Given the description of an element on the screen output the (x, y) to click on. 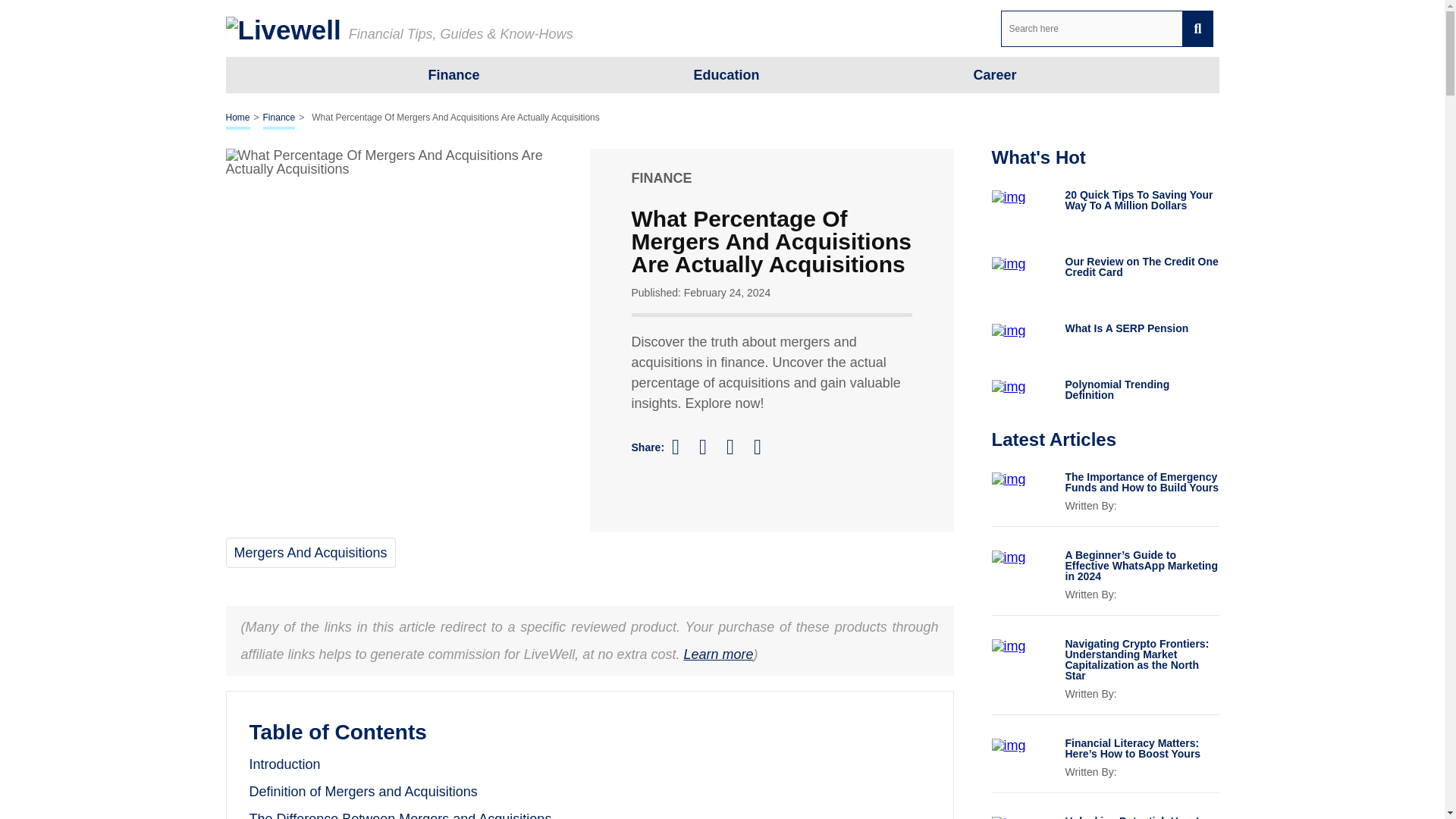
Share on Facebook (682, 446)
Finance (279, 118)
Learn more (717, 654)
Education (725, 74)
20 Quick Tips To Saving Your Way To A Million Dollars (1141, 199)
Home (237, 118)
Share on Twitter (709, 446)
Our Review on The Credit One Credit Card (1141, 266)
The Difference Between Mergers and Acquisitions (399, 815)
Finance (453, 74)
